Given the description of an element on the screen output the (x, y) to click on. 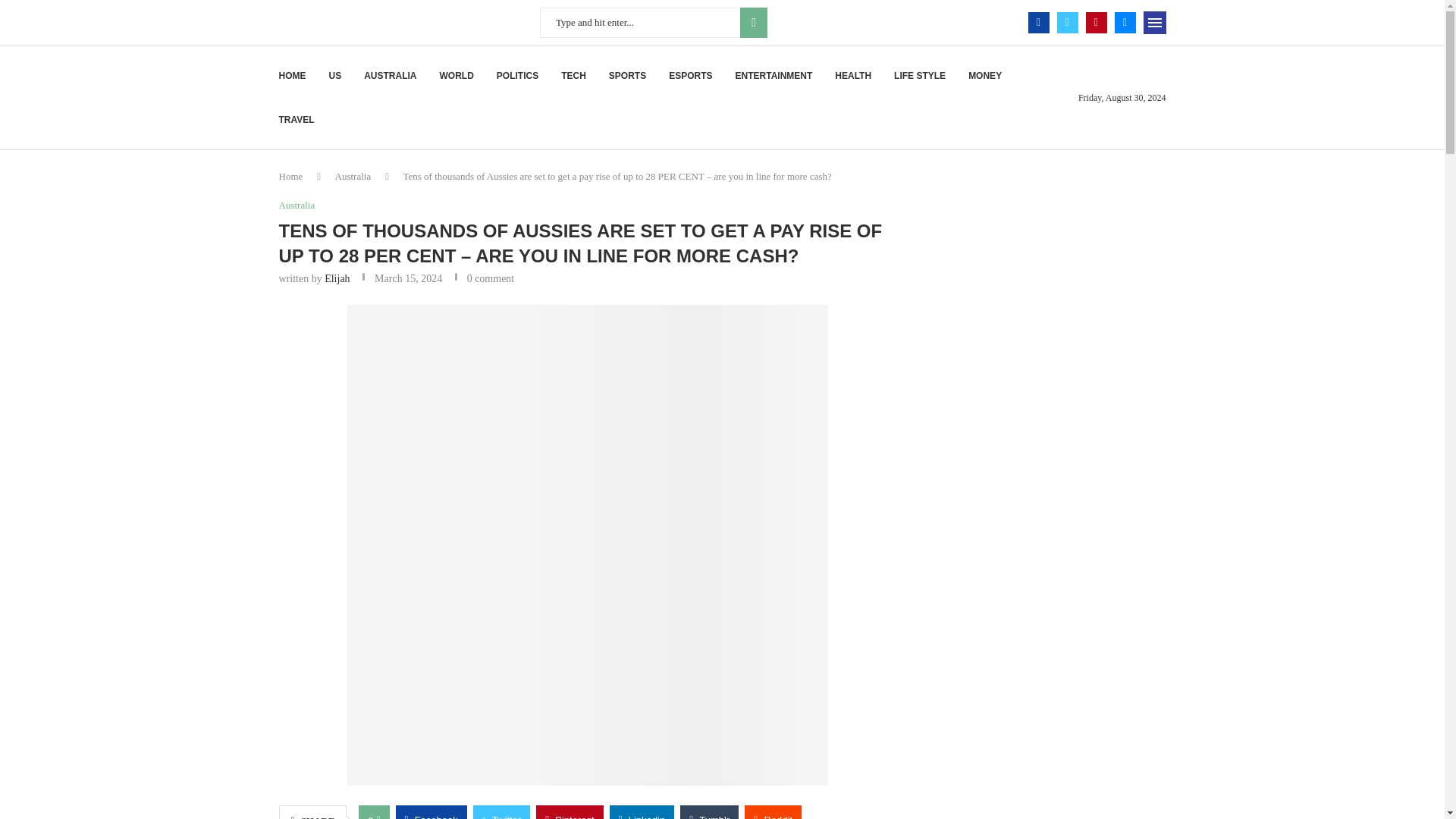
POLITICS (517, 75)
AUSTRALIA (390, 75)
ENTERTAINMENT (773, 75)
LIFE STYLE (918, 75)
SEARCH (753, 22)
ESPORTS (689, 75)
